Given the description of an element on the screen output the (x, y) to click on. 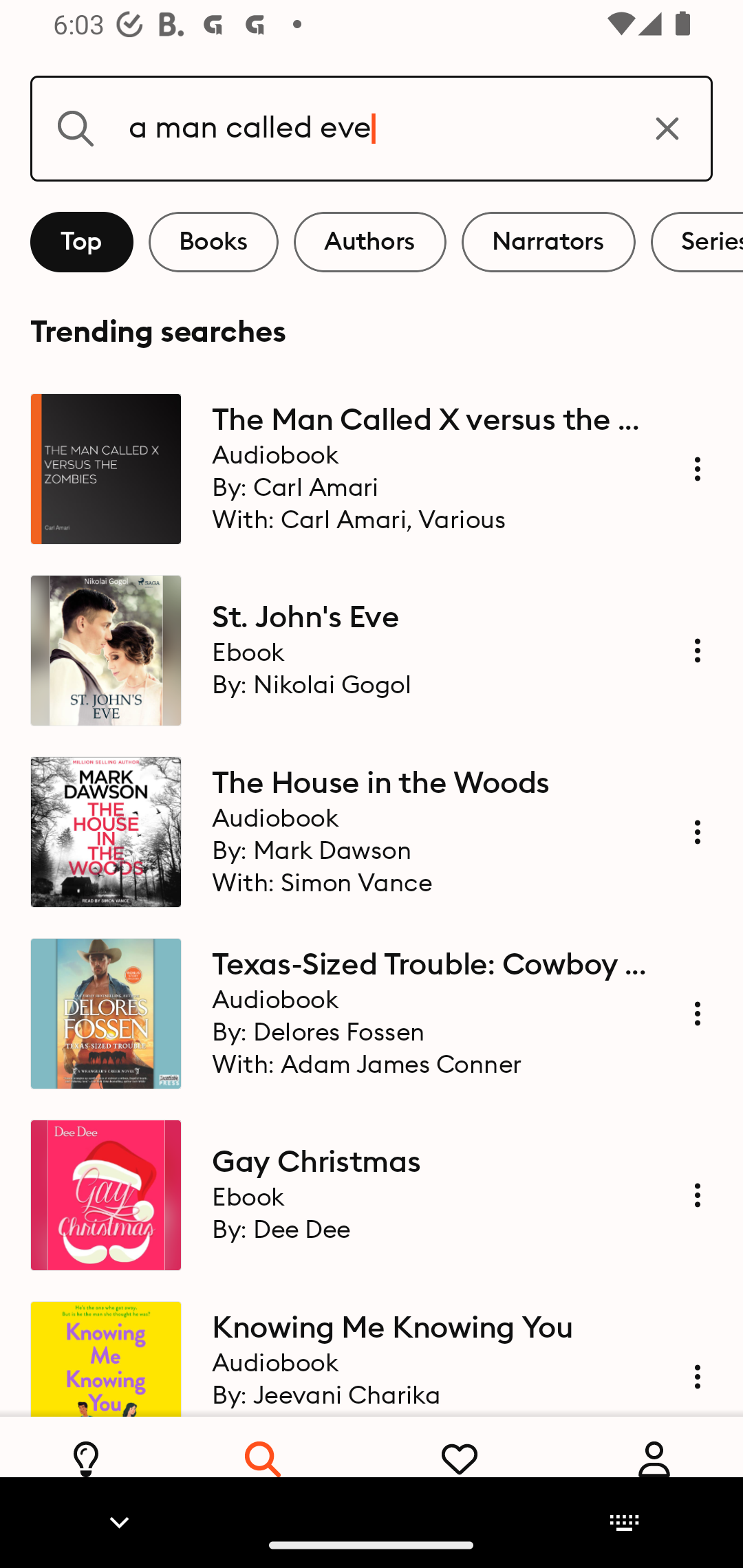
a man called eve (371, 128)
Top (81, 241)
Books (213, 241)
Authors (369, 241)
Narrators (548, 241)
Series (696, 241)
